Given the description of an element on the screen output the (x, y) to click on. 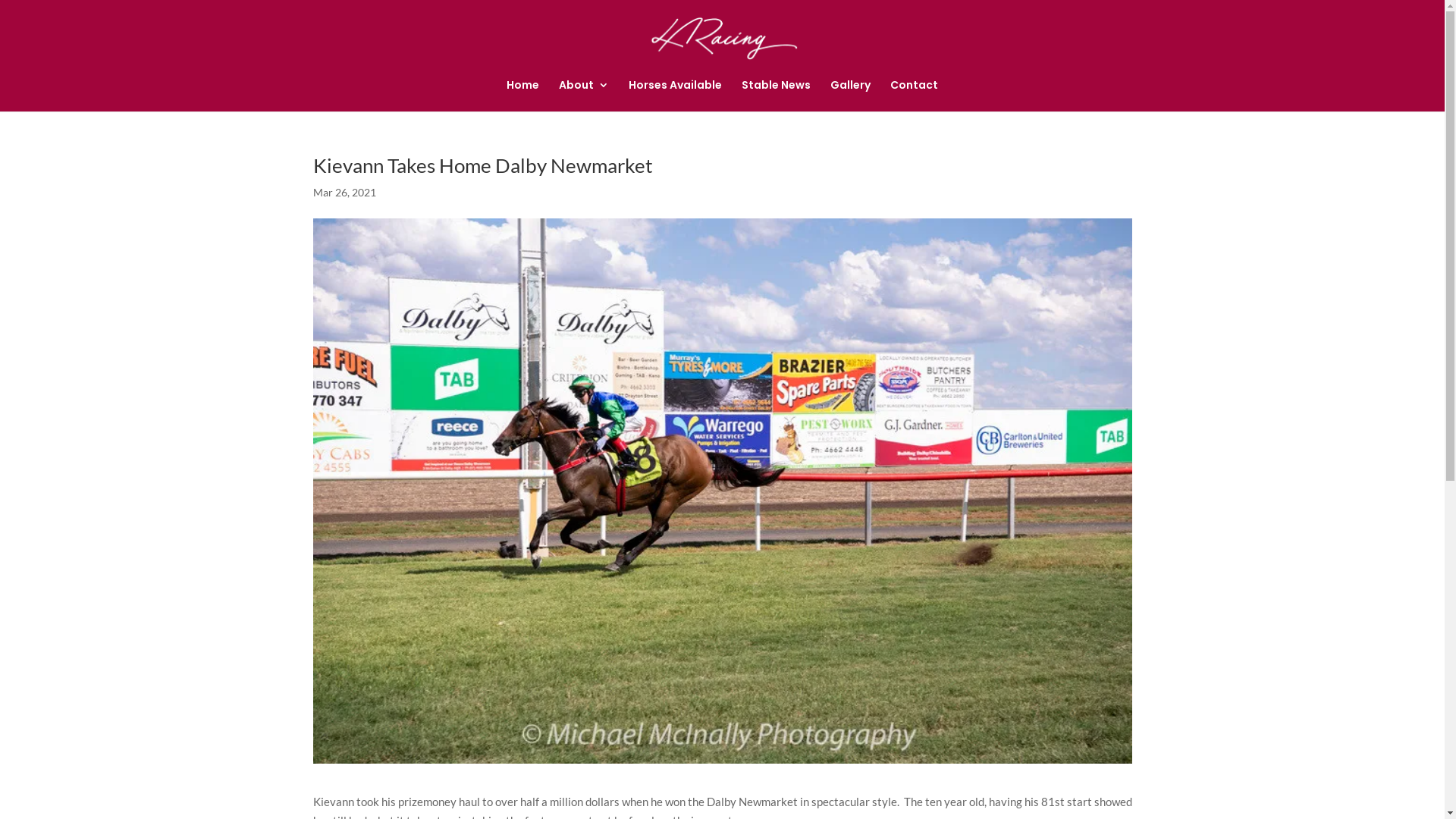
Contact Element type: text (914, 95)
Horses Available Element type: text (674, 95)
Stable News Element type: text (775, 95)
Gallery Element type: text (850, 95)
Home Element type: text (522, 95)
About Element type: text (583, 95)
